Given the description of an element on the screen output the (x, y) to click on. 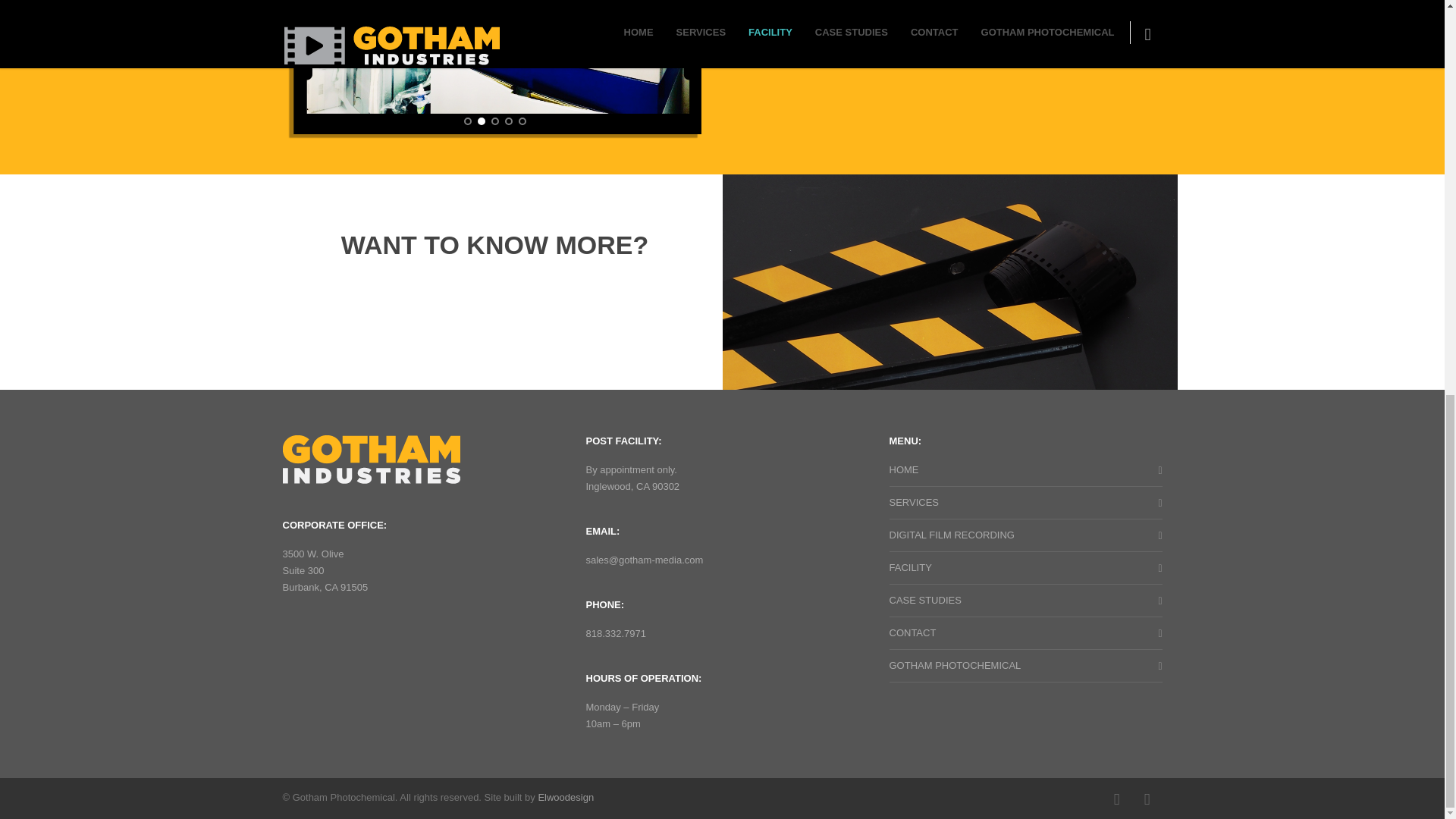
1 (467, 121)
3 (495, 121)
2 (480, 121)
Facebook (1115, 798)
4 (508, 121)
5 (521, 121)
Twitter (1146, 798)
